Given the description of an element on the screen output the (x, y) to click on. 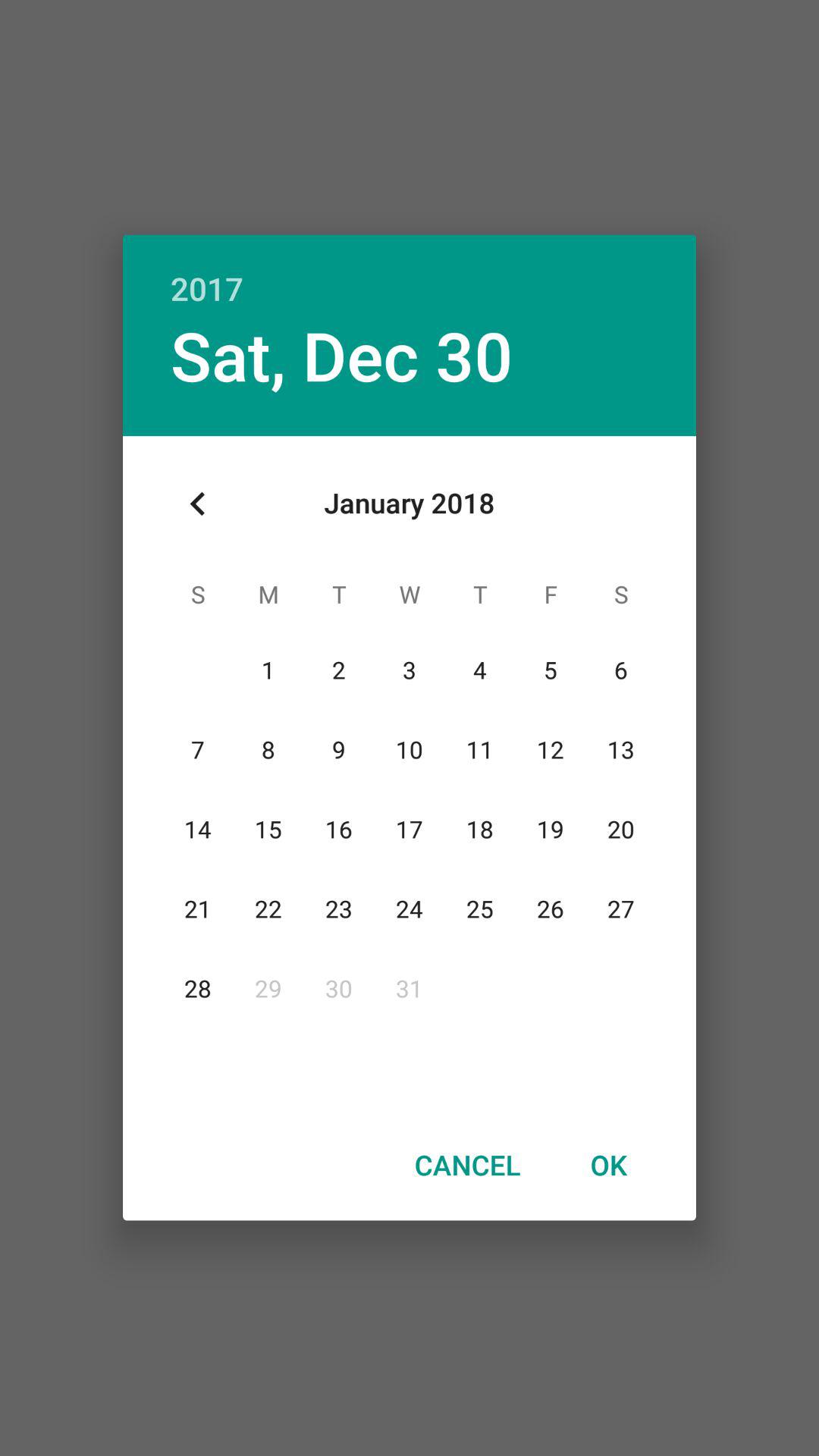
swipe to the cancel icon (467, 1164)
